Given the description of an element on the screen output the (x, y) to click on. 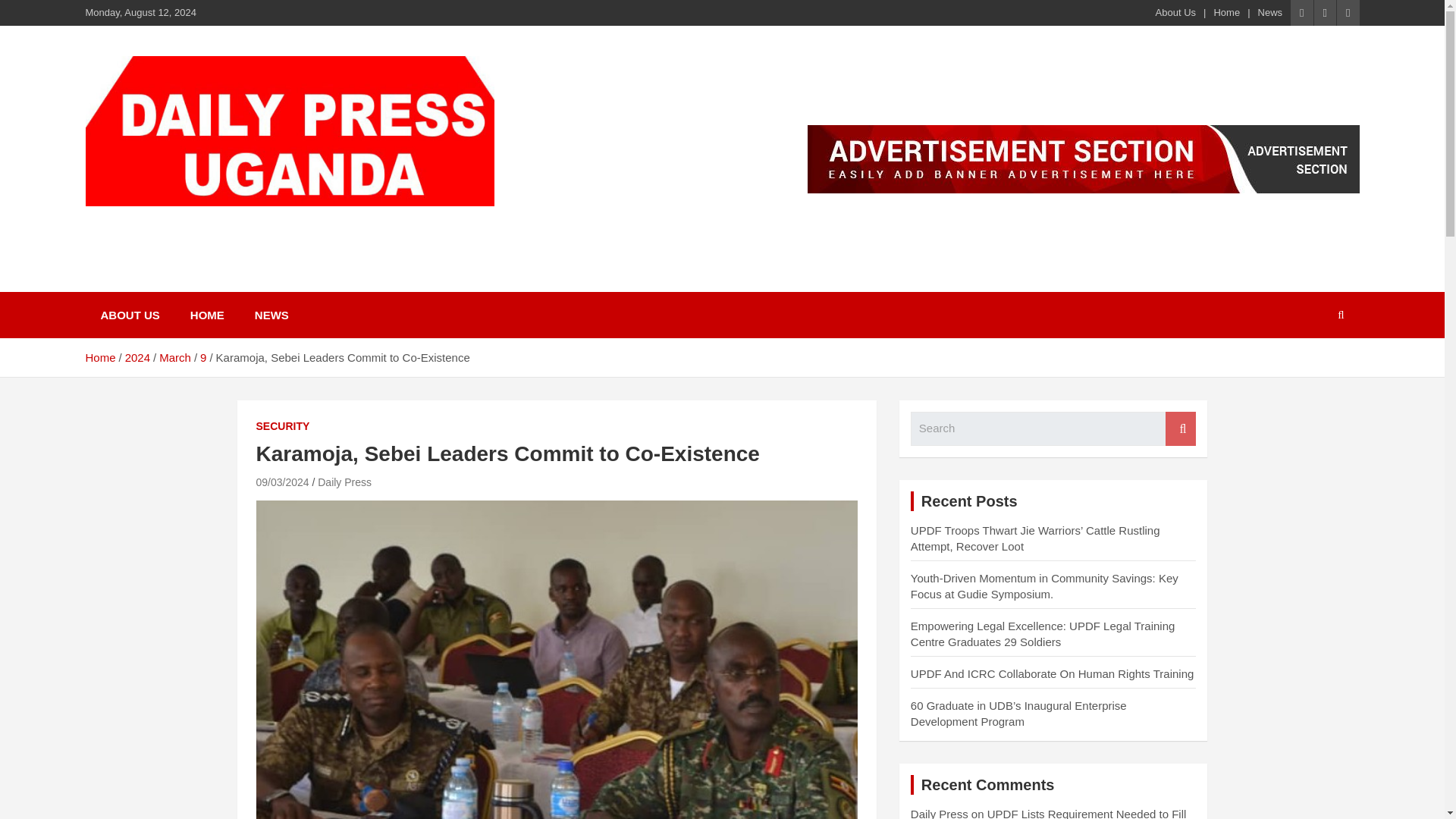
Home (99, 357)
Karamoja, Sebei Leaders Commit to Co-Existence (282, 481)
UPDF And ICRC Collaborate On Human Rights Training (1052, 673)
About Us (1175, 12)
ABOUT US (129, 314)
Home (1226, 12)
March (174, 357)
Daily Press (344, 481)
NEWS (272, 314)
